Given the description of an element on the screen output the (x, y) to click on. 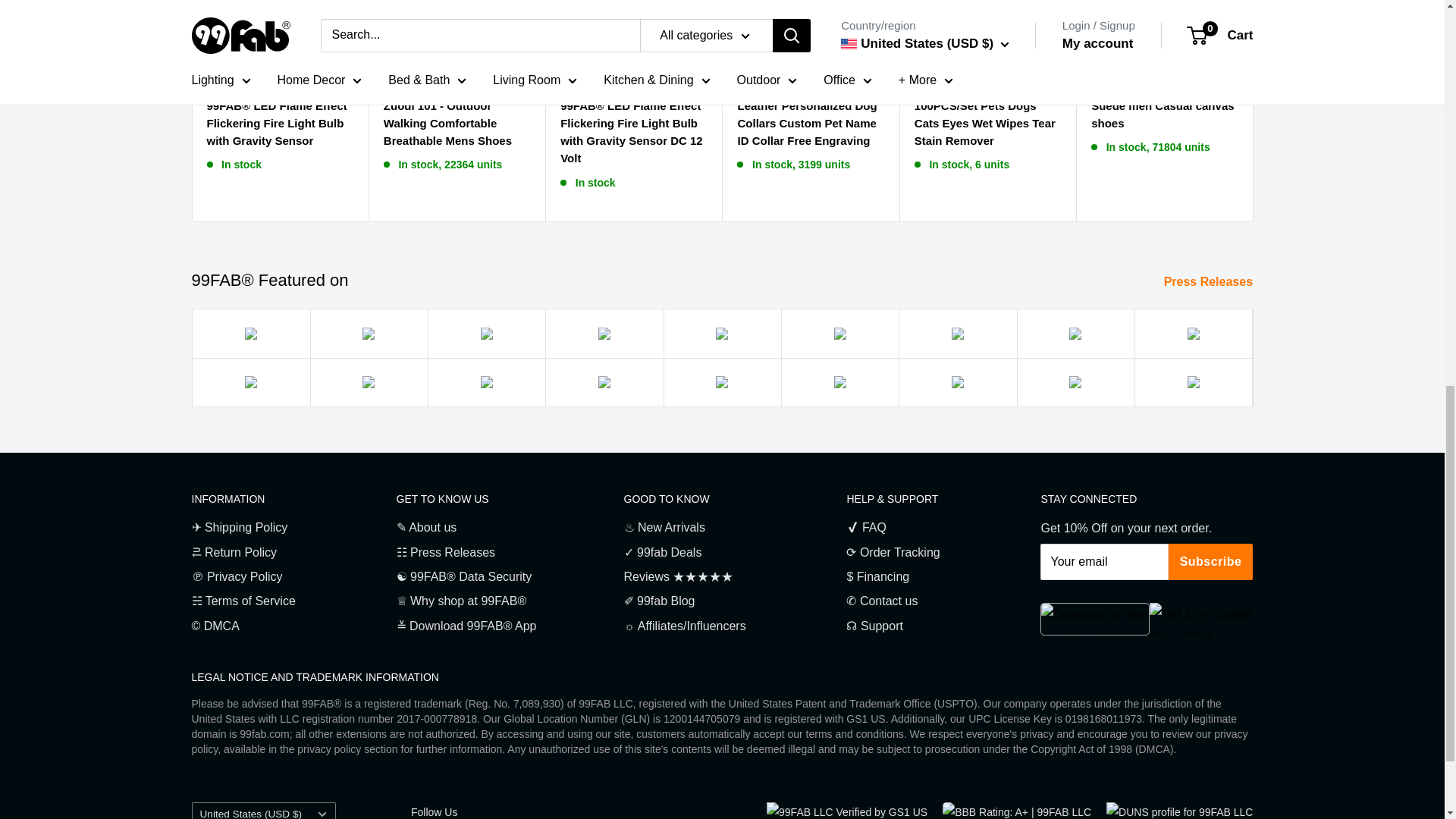
Get it on Google Play (1201, 618)
99FAB LLC Verified by GS1 US (847, 810)
Download on the App Store (1095, 618)
DUNS profile for 99FAB LLC (1179, 810)
